Given the description of an element on the screen output the (x, y) to click on. 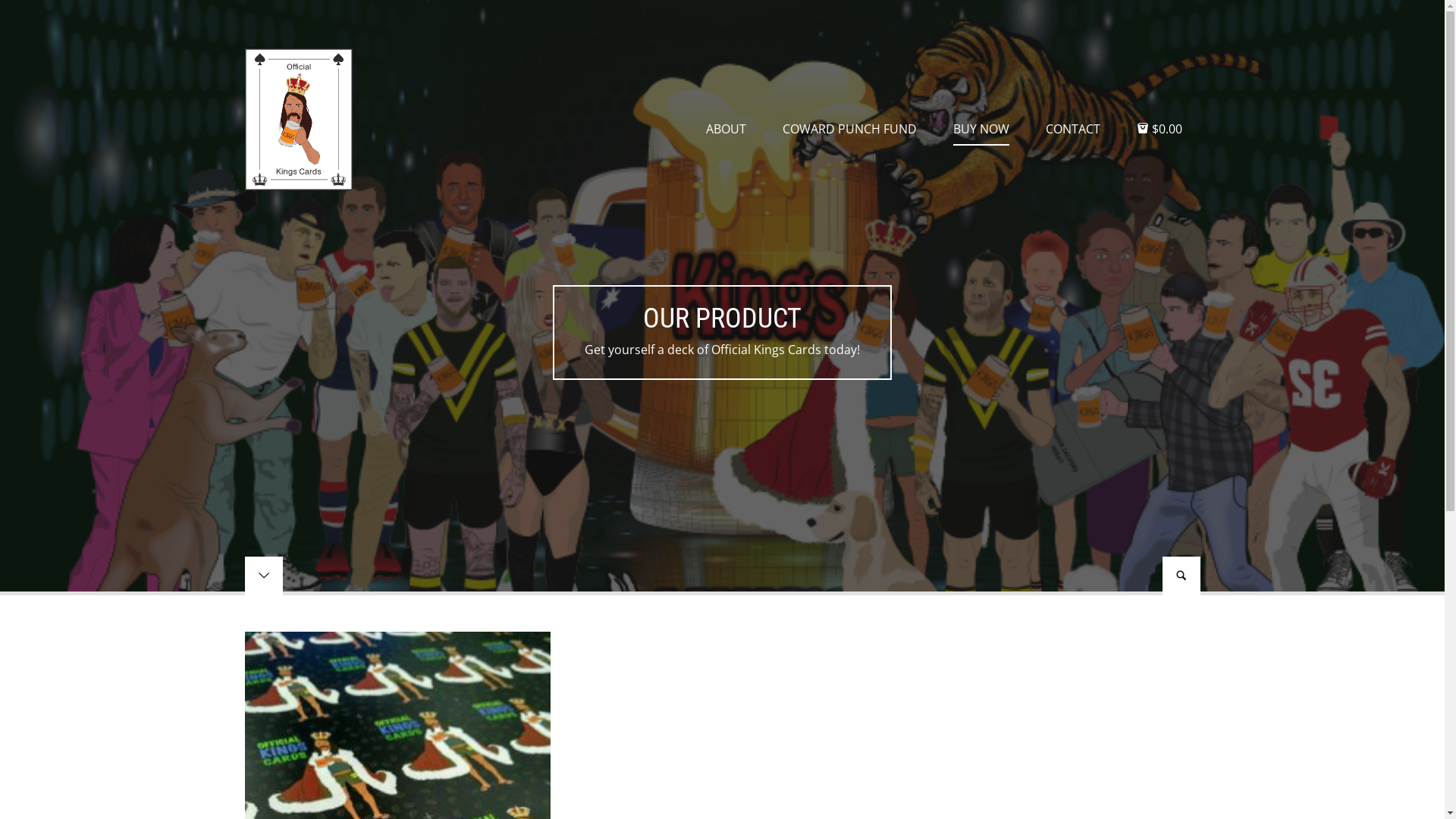
COWARD PUNCH FUND Element type: text (849, 128)
$0.00 Element type: text (1158, 128)
CONTACT Element type: text (1071, 128)
ABOUT Element type: text (725, 128)
BUY NOW Element type: text (980, 128)
